Given the description of an element on the screen output the (x, y) to click on. 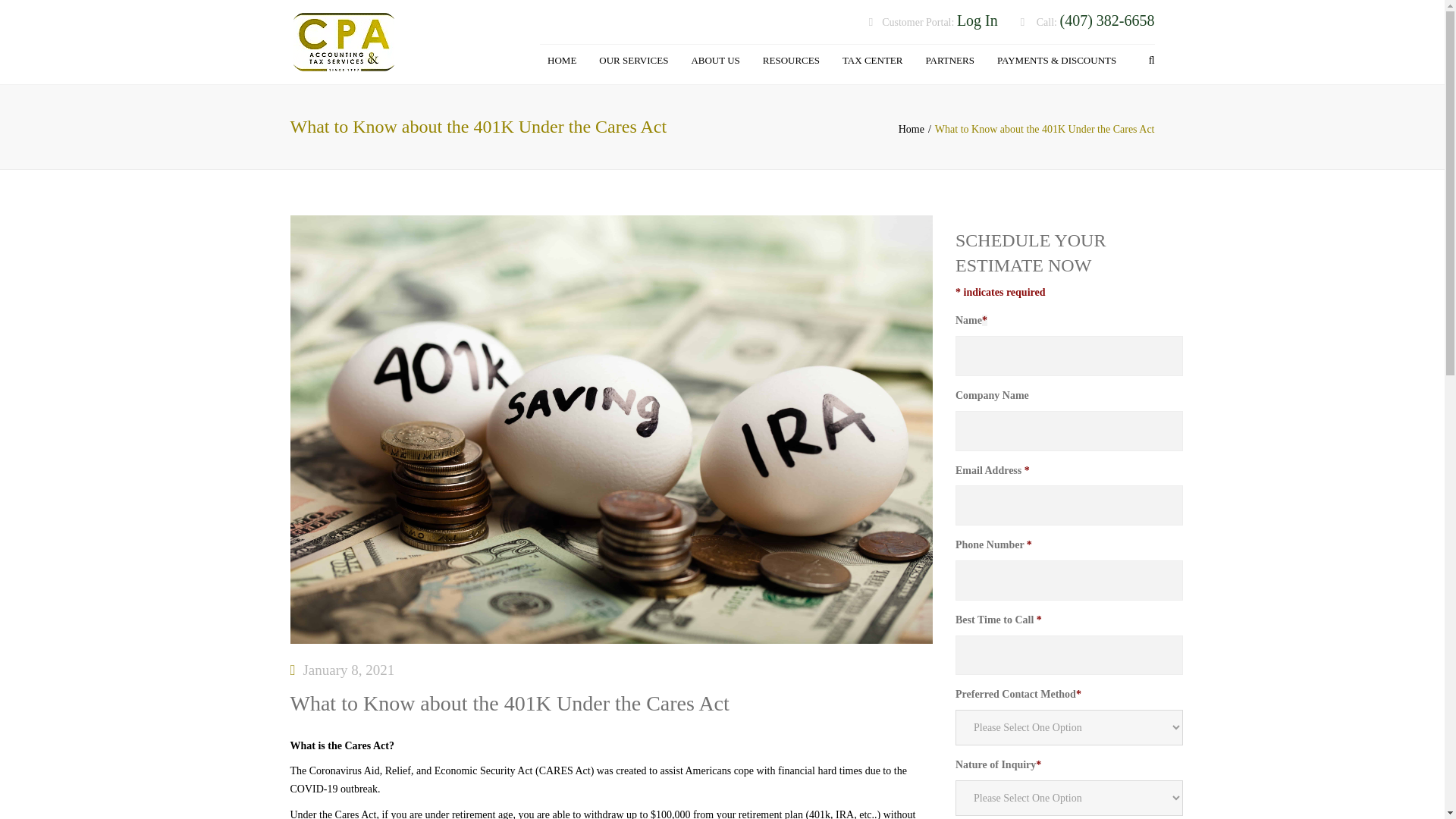
OUR SERVICES (633, 60)
Log In (976, 21)
HOME (561, 60)
